Given the description of an element on the screen output the (x, y) to click on. 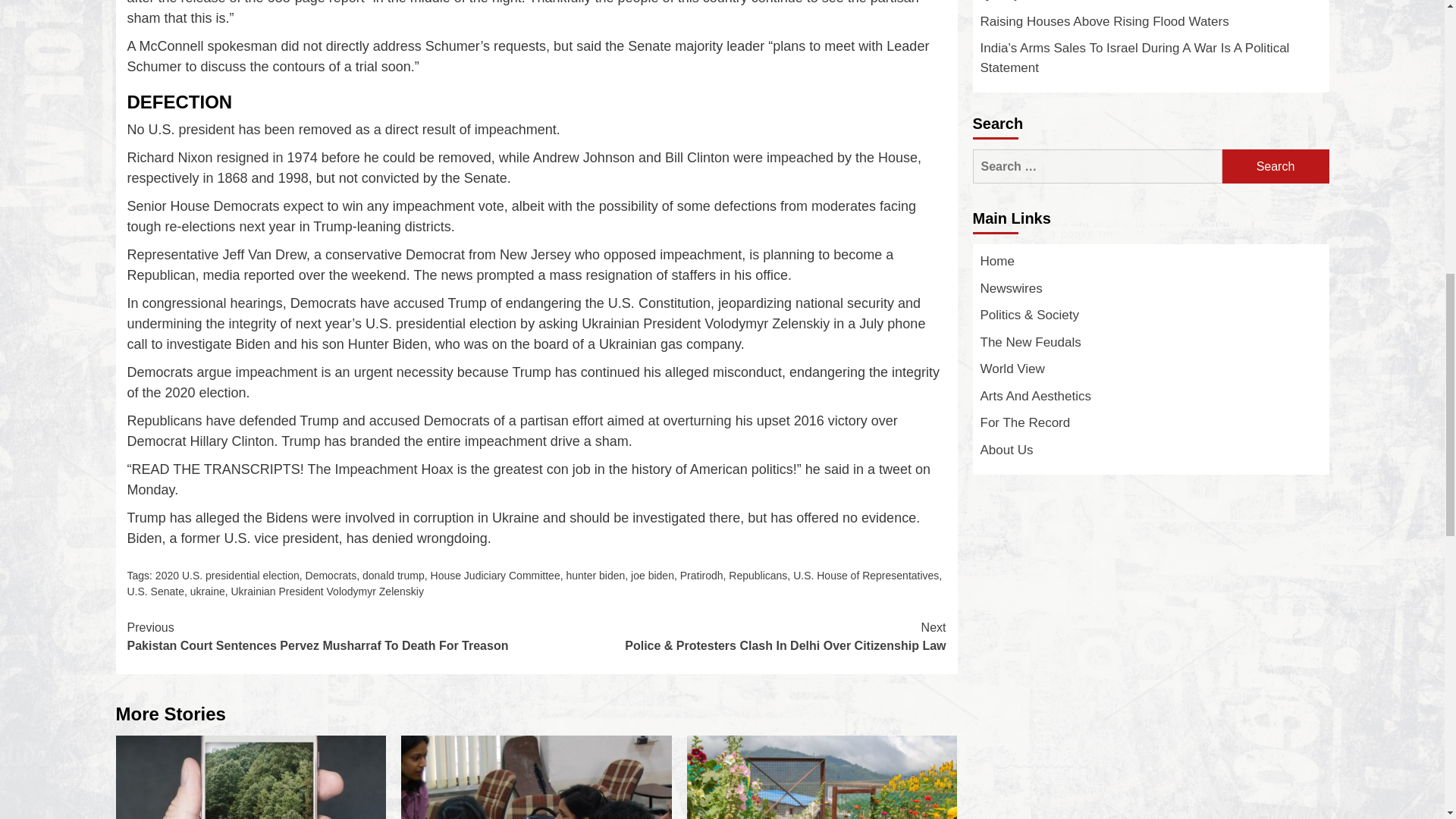
joe biden (652, 575)
Democrats (330, 575)
Search (1276, 166)
2020 U.S. presidential election (227, 575)
donald trump (393, 575)
Republicans (758, 575)
hunter biden (595, 575)
House Judiciary Committee (495, 575)
U.S. Senate (156, 591)
Ukrainian President Volodymyr Zelenskiy (326, 591)
Search (1276, 166)
ukraine (207, 591)
Pratirodh (701, 575)
U.S. House of Representatives (866, 575)
